Given the description of an element on the screen output the (x, y) to click on. 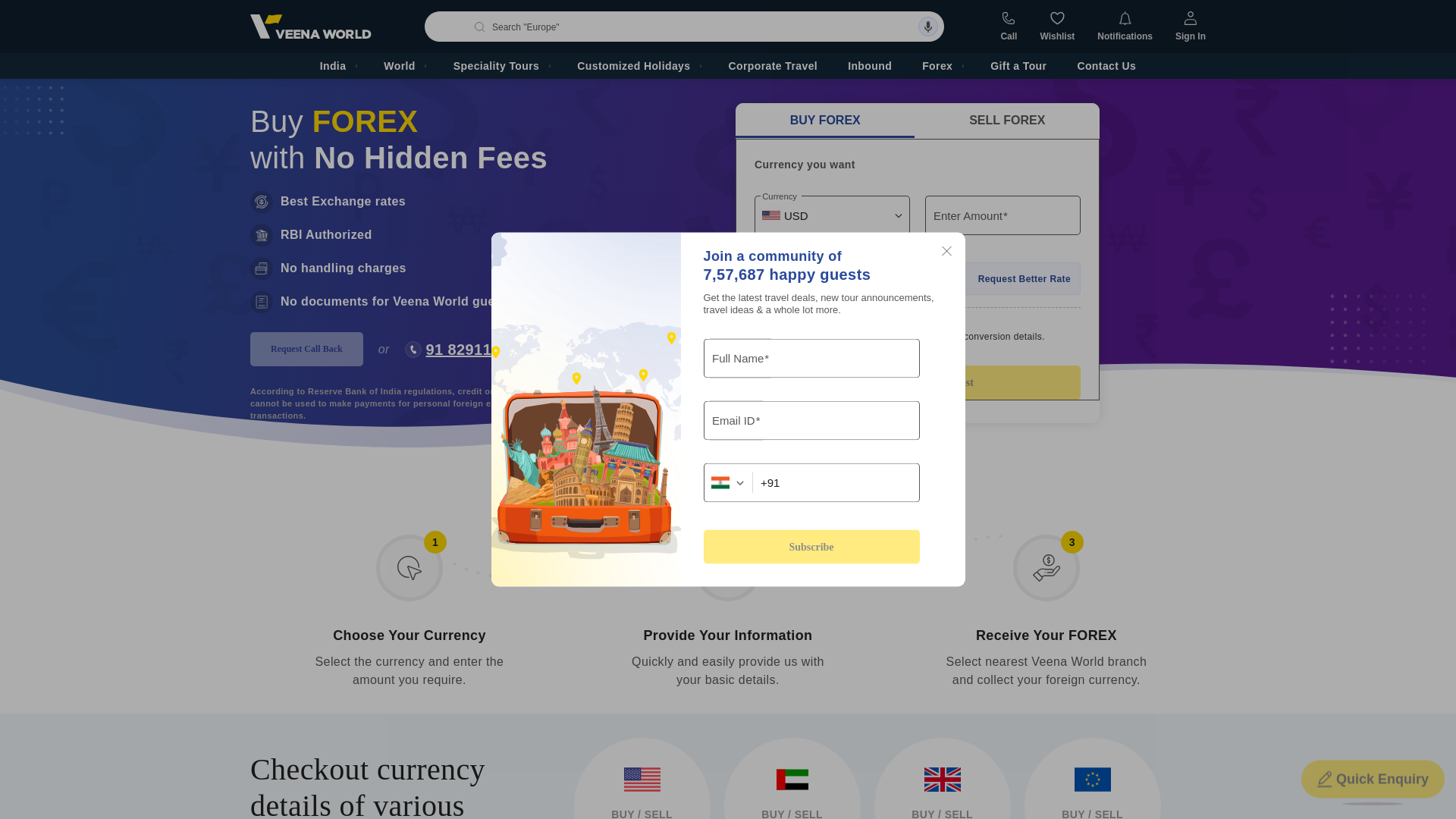
Wishlist (1056, 26)
India (336, 65)
